Given the description of an element on the screen output the (x, y) to click on. 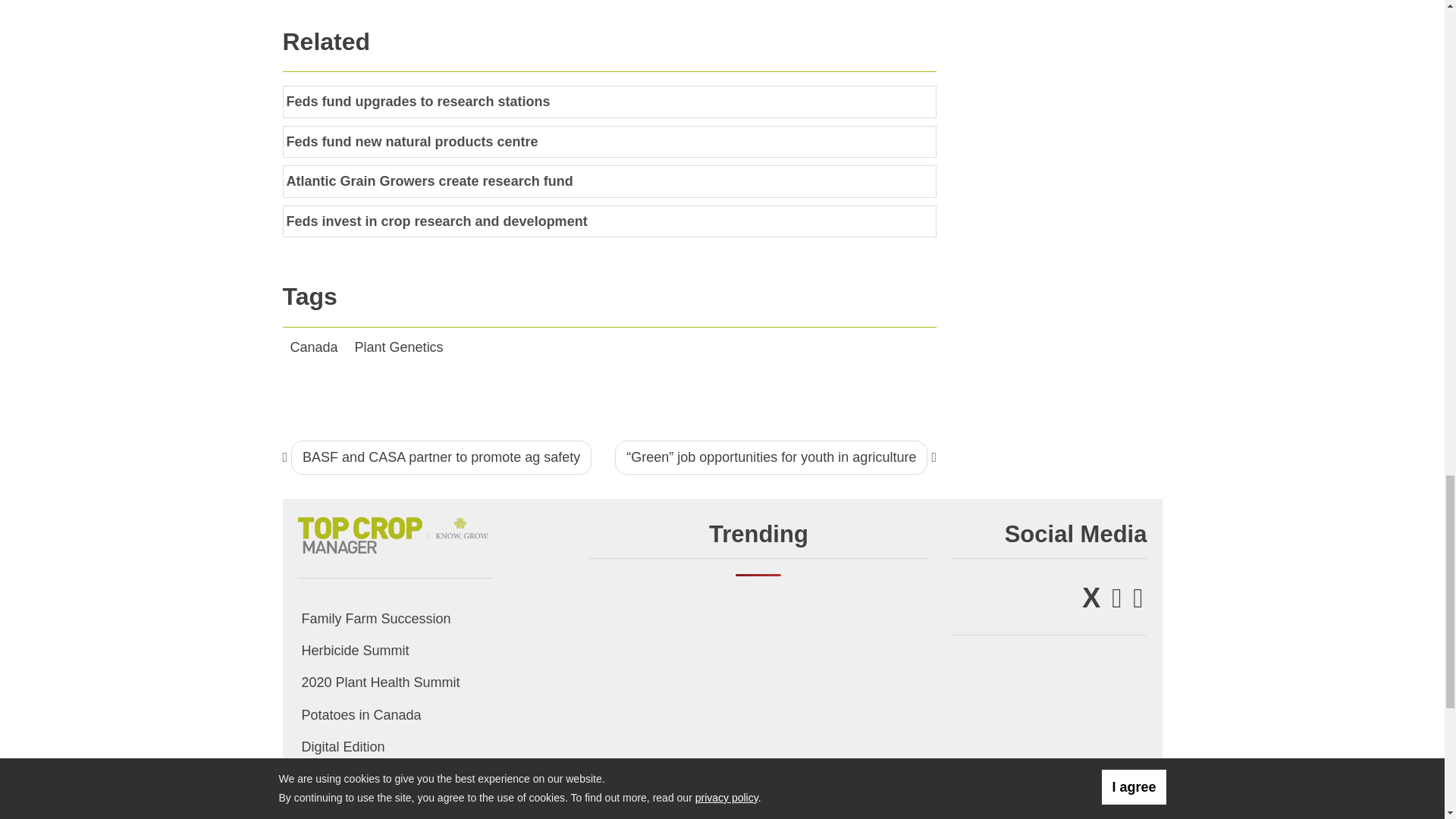
Top Crop Manager (395, 531)
